Given the description of an element on the screen output the (x, y) to click on. 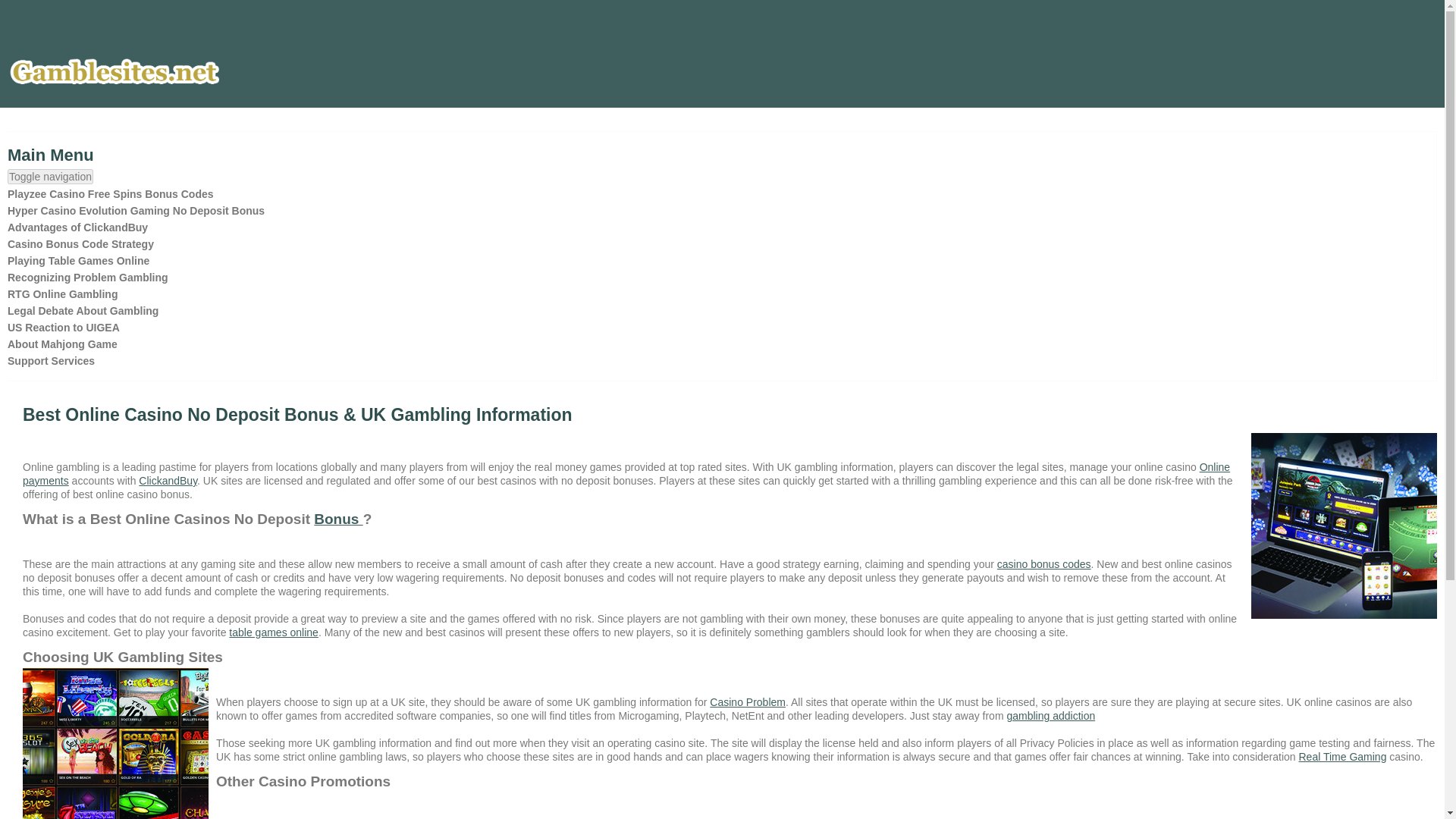
Casino Bonus Code Strategy (80, 243)
Online payments (626, 473)
Support Services (50, 361)
RTG Online Gambling (62, 293)
Legal Debate About Gambling (82, 311)
Playzee Casino Free Spins Bonus Codes (110, 193)
gambling addiction (1050, 715)
casino bonus codes (1043, 563)
About Mahjong Game (62, 343)
Real Time Gaming (1342, 756)
Recognizing Problem Gambling (87, 277)
Toggle navigation (50, 176)
Playing Table Games Online (78, 260)
Casino Problem (748, 702)
Hyper Casino Evolution Gaming No Deposit Bonus (135, 210)
